Given the description of an element on the screen output the (x, y) to click on. 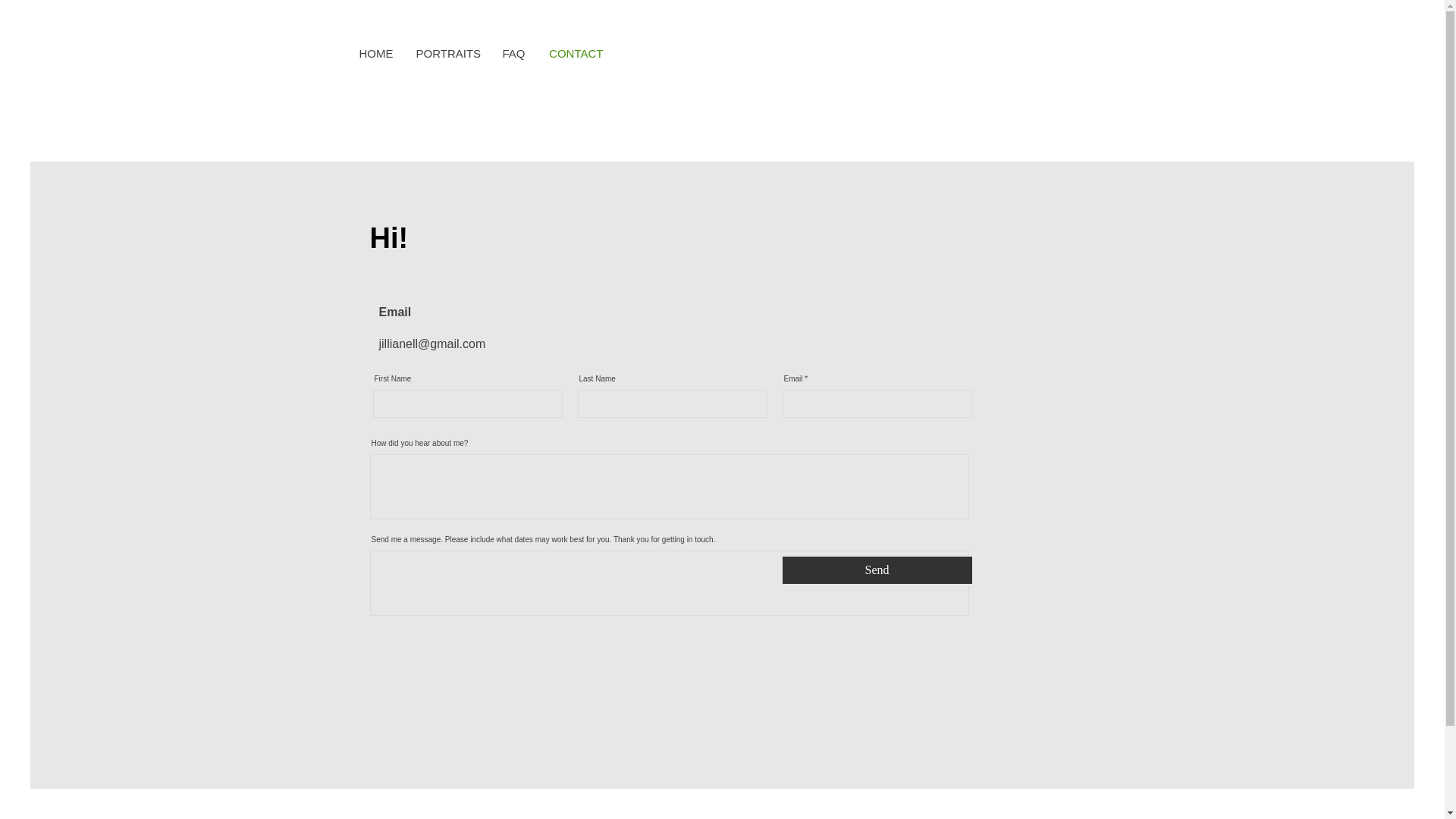
Send (877, 569)
HOME (375, 53)
PORTRAITS (446, 53)
FAQ (513, 53)
CONTACT (575, 53)
